Given the description of an element on the screen output the (x, y) to click on. 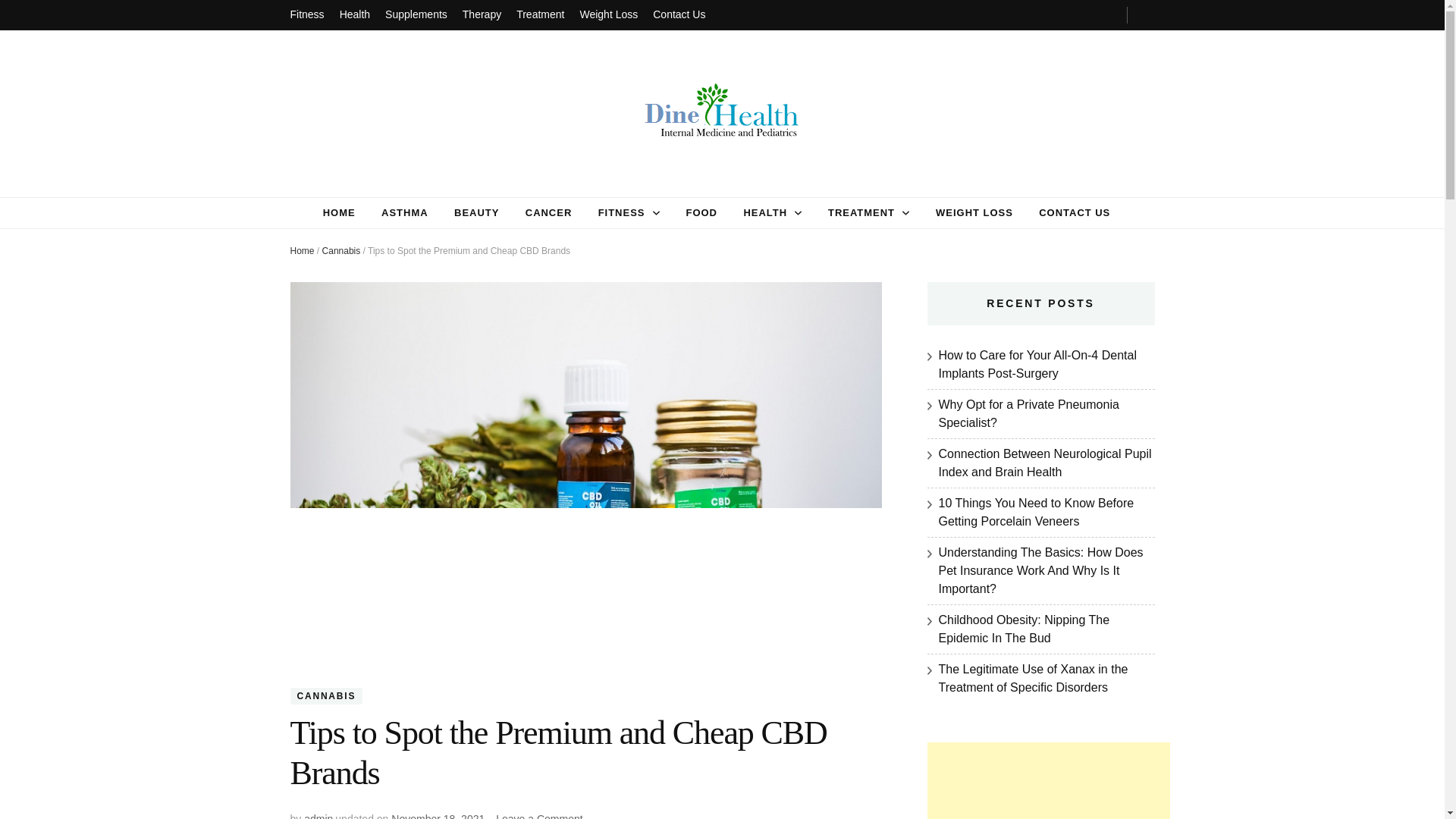
CANCER (548, 213)
CONTACT US (1074, 213)
CANNABIS (325, 695)
Fitness (306, 15)
WEIGHT LOSS (974, 213)
Health (354, 15)
admin (318, 816)
HEALTH (764, 213)
ASTHMA (404, 213)
Treatment (540, 15)
FITNESS (621, 213)
HOME (339, 213)
Contact Us (678, 15)
FOOD (700, 213)
Therapy (481, 15)
